Given the description of an element on the screen output the (x, y) to click on. 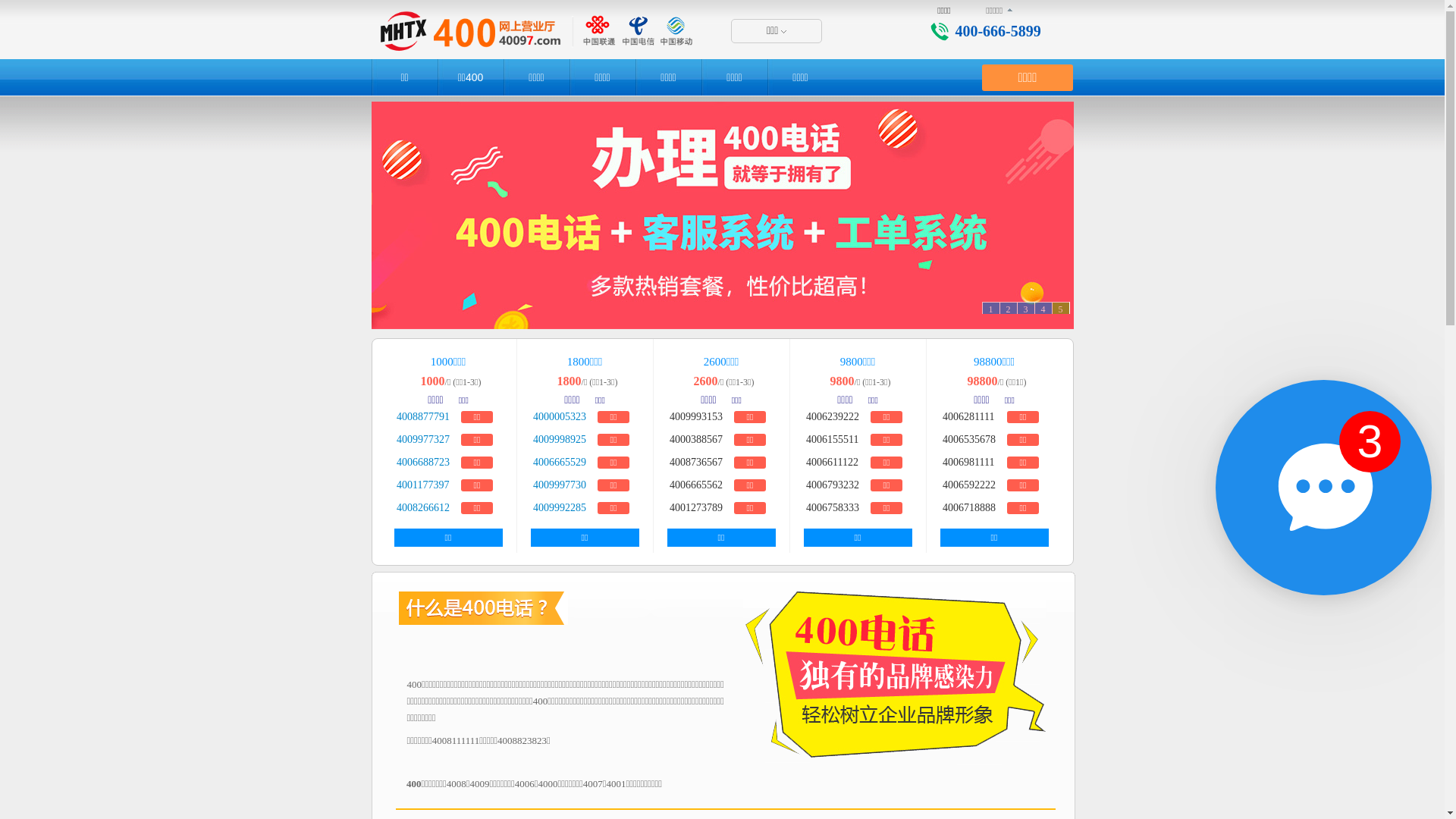
3 Element type: text (1024, 308)
4 Element type: text (1042, 308)
2 Element type: text (1369, 441)
1 Element type: text (989, 308)
2 Element type: text (1007, 308)
2 Element type: text (1322, 487)
5 Element type: text (1059, 308)
